Given the description of an element on the screen output the (x, y) to click on. 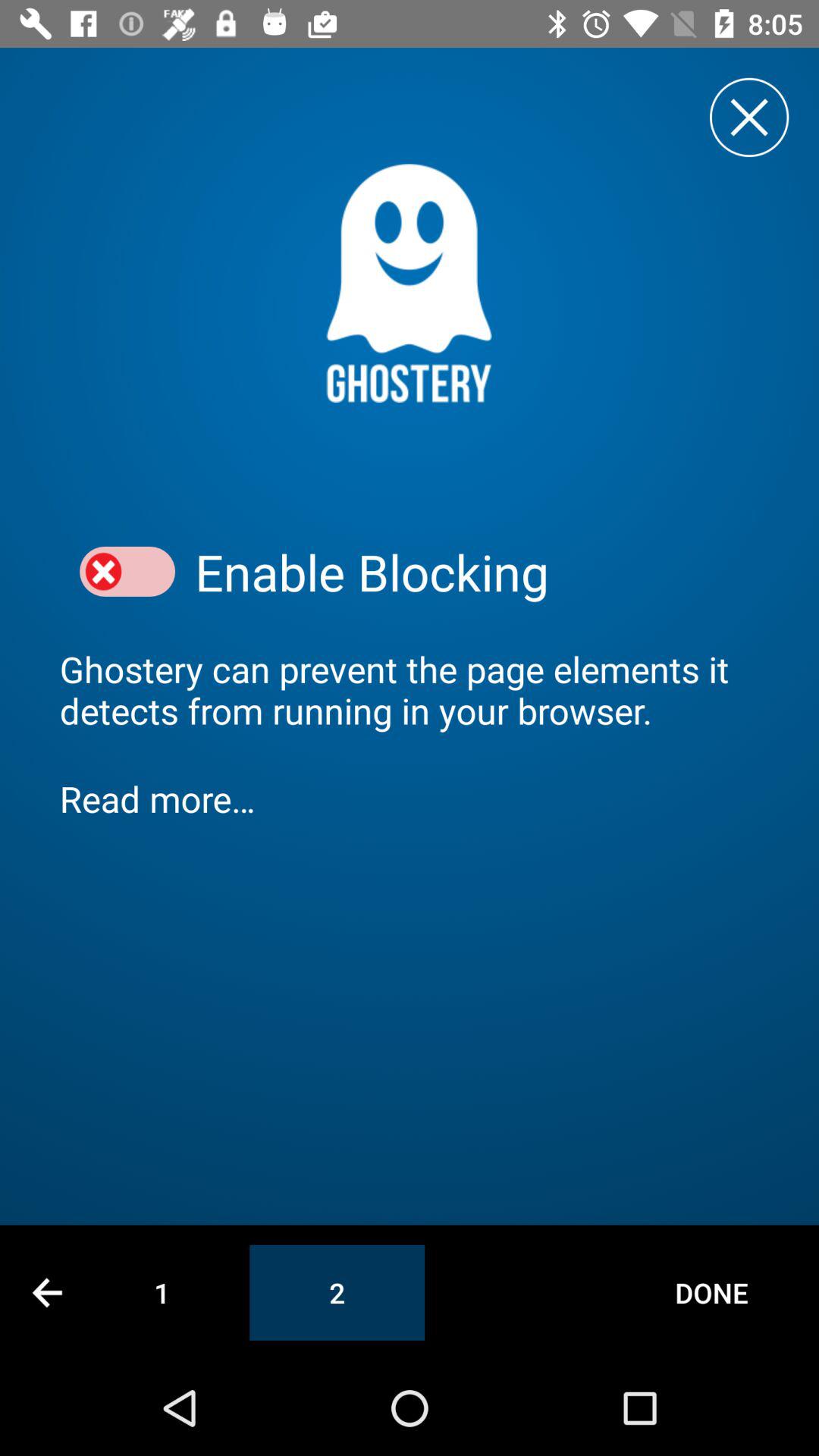
choose item next to the 2 (711, 1292)
